Given the description of an element on the screen output the (x, y) to click on. 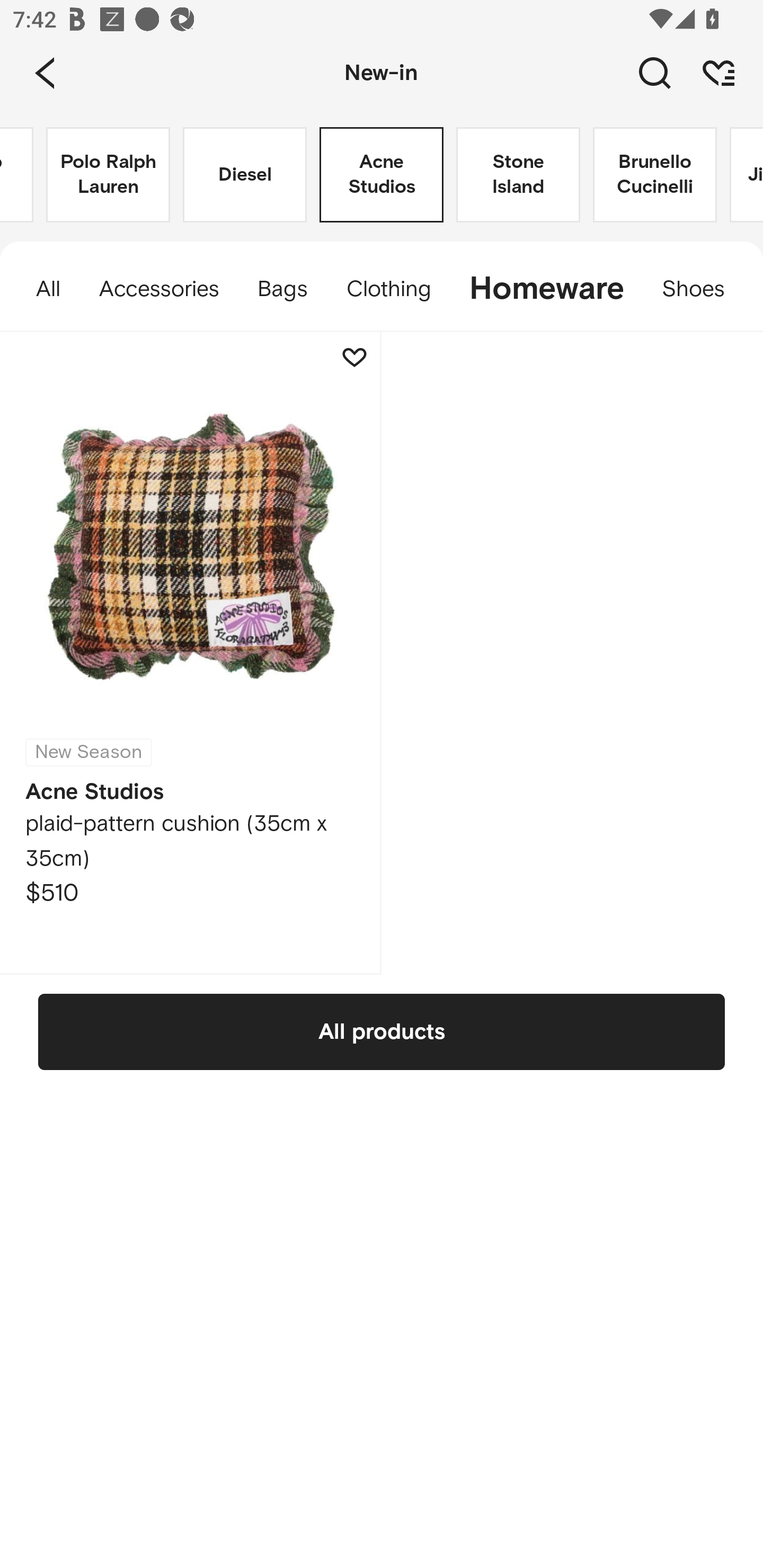
Polo Ralph Lauren (107, 174)
Diesel (244, 174)
Acne Studios (381, 174)
Stone Island (517, 174)
Brunello Cucinelli (654, 174)
All (39, 289)
Accessories (158, 289)
Bags (282, 289)
Clothing (388, 289)
Homeware (546, 289)
Shoes (702, 289)
All products (381, 1031)
